Given the description of an element on the screen output the (x, y) to click on. 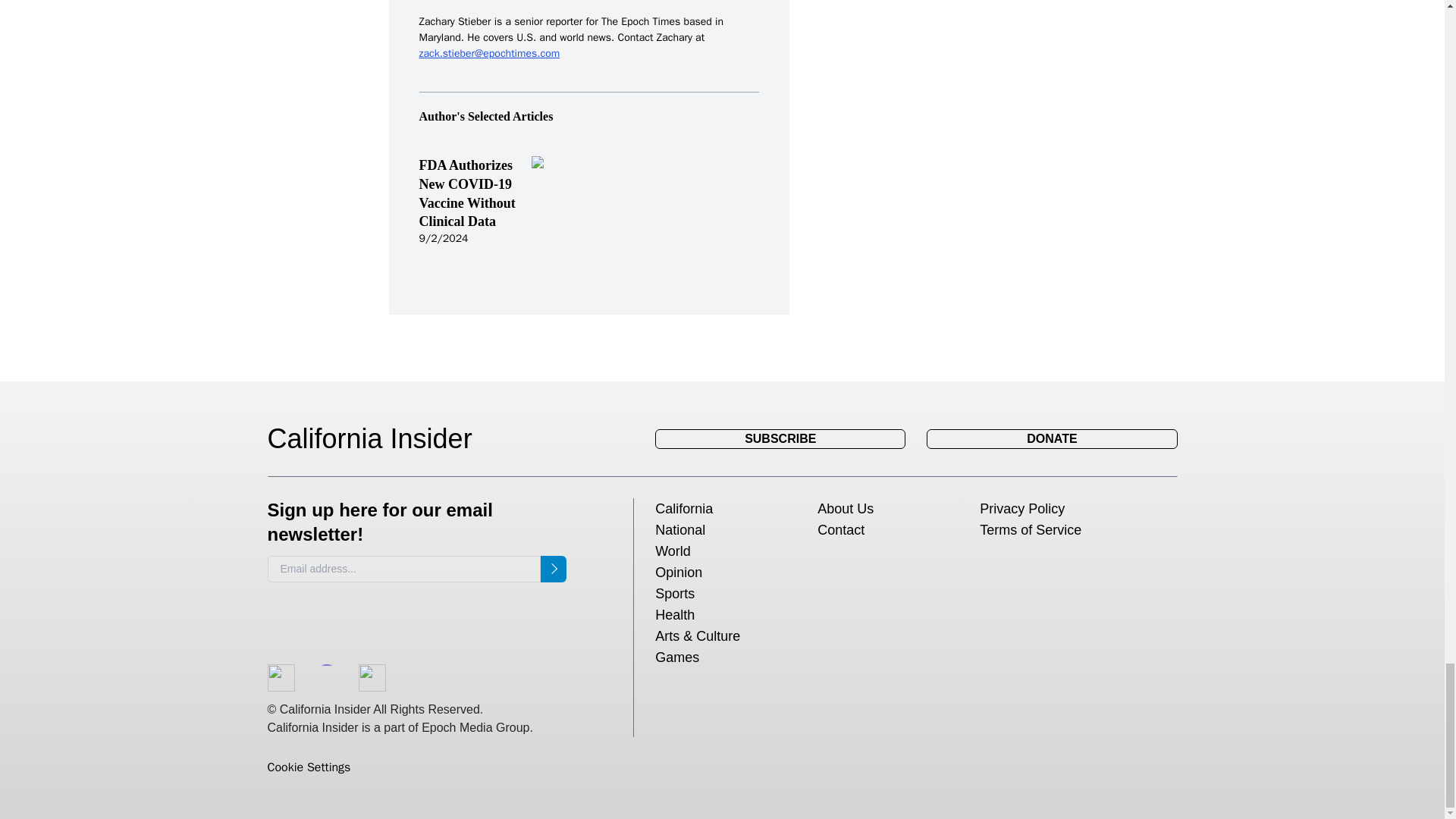
National (679, 529)
DONATE (1051, 438)
California (684, 508)
FDA Authorizes New COVID-19 Vaccine Without Clinical Data (467, 193)
California Insider (380, 439)
Opinion (678, 572)
Sports (674, 593)
SUBSCRIBE (780, 438)
World (672, 550)
